Given the description of an element on the screen output the (x, y) to click on. 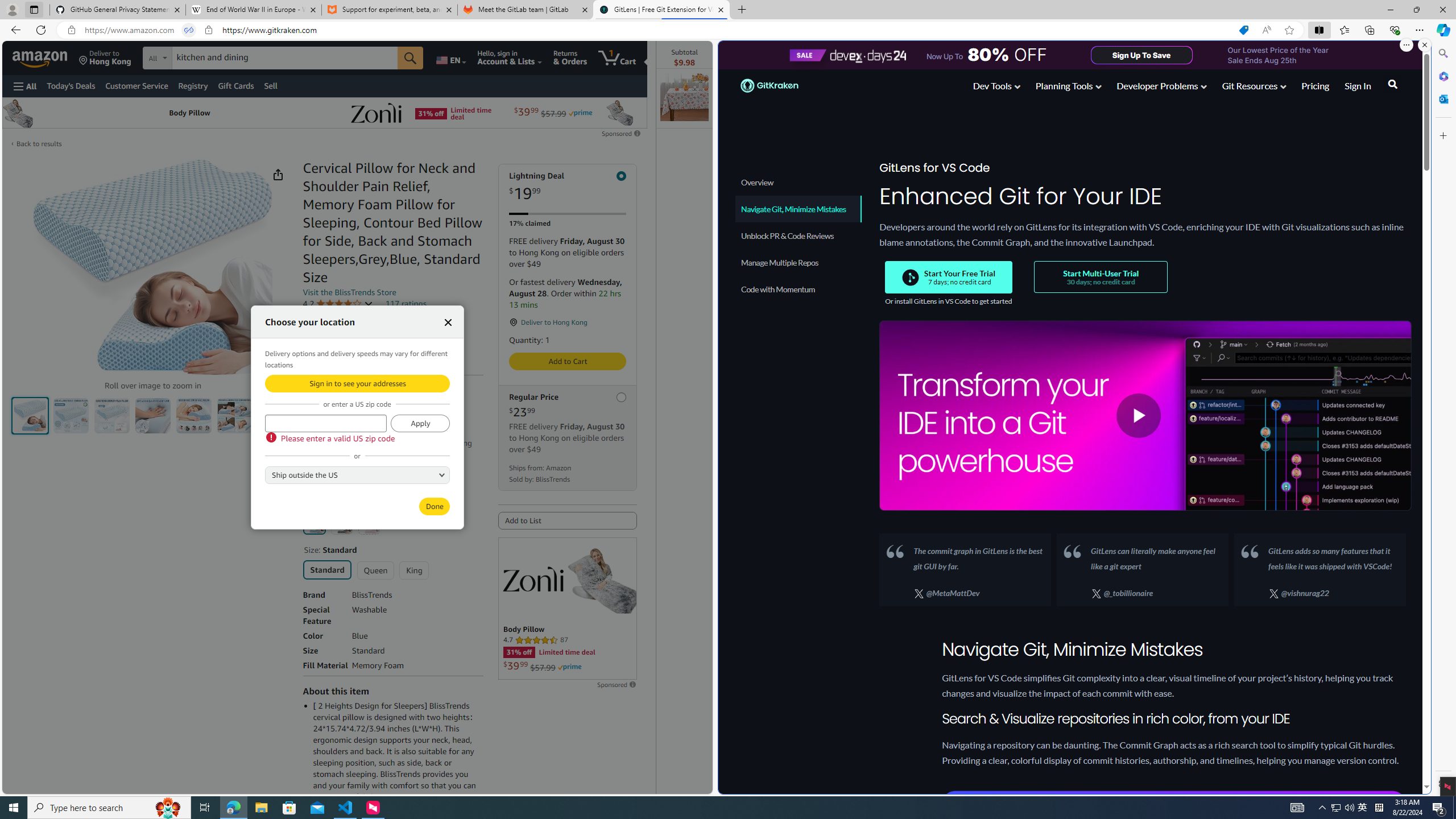
Overview (797, 182)
Sponsored ad (567, 608)
1 item in cart (616, 57)
Customer Service (136, 85)
More options. (1406, 45)
Unblock PR & Code Reviews (797, 235)
Pink (369, 522)
Logo (533, 578)
4.2 4.2 out of 5 stars (337, 303)
Share (277, 174)
